Given the description of an element on the screen output the (x, y) to click on. 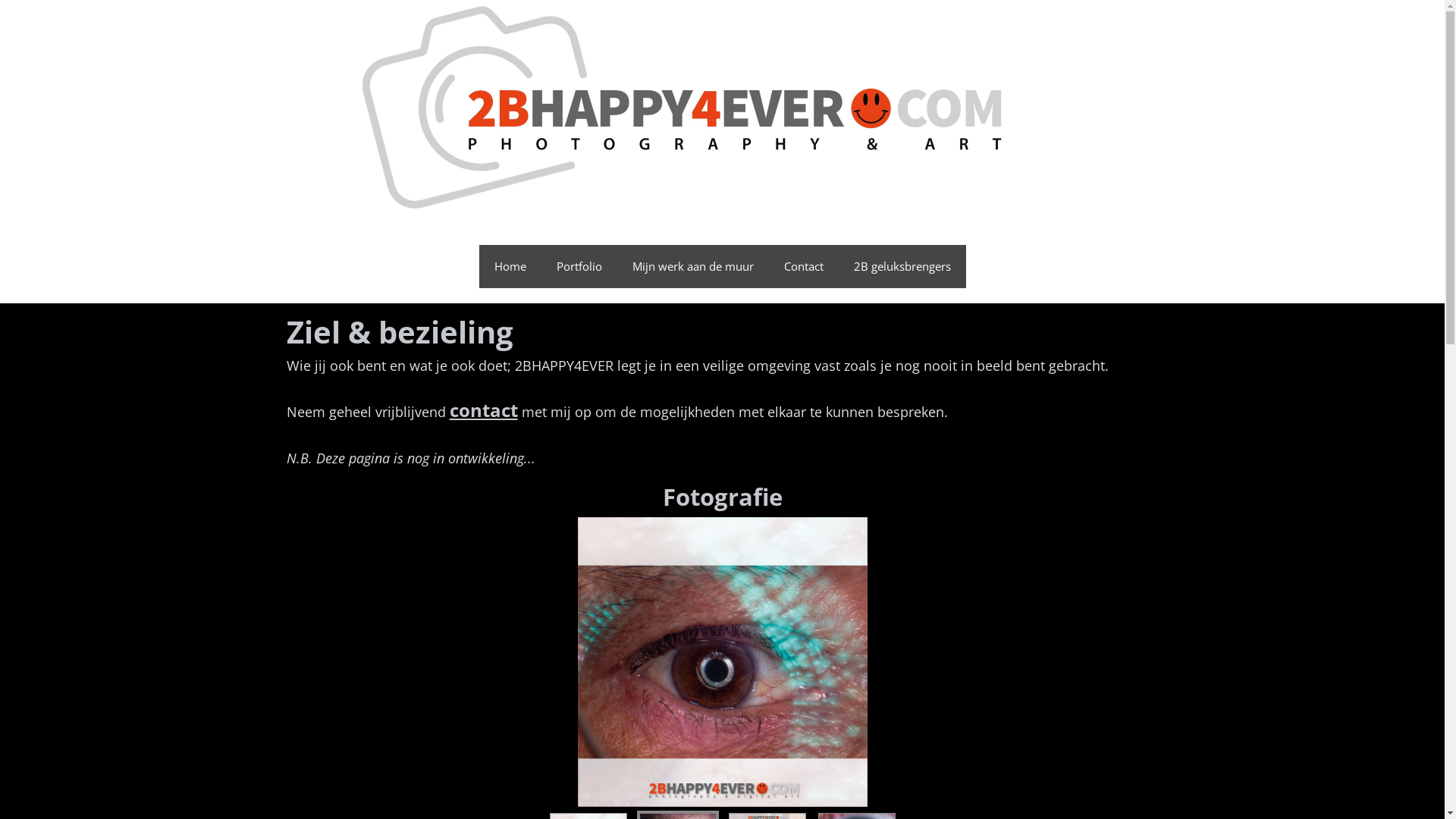
Mijn werk aan de muur Element type: text (692, 266)
Contact Element type: text (803, 266)
contact Element type: text (482, 409)
Ga naar de homepage Element type: hover (722, 107)
Home Element type: text (510, 266)
Portfolio Element type: text (579, 266)
2B geluksbrengers Element type: text (902, 266)
